Given the description of an element on the screen output the (x, y) to click on. 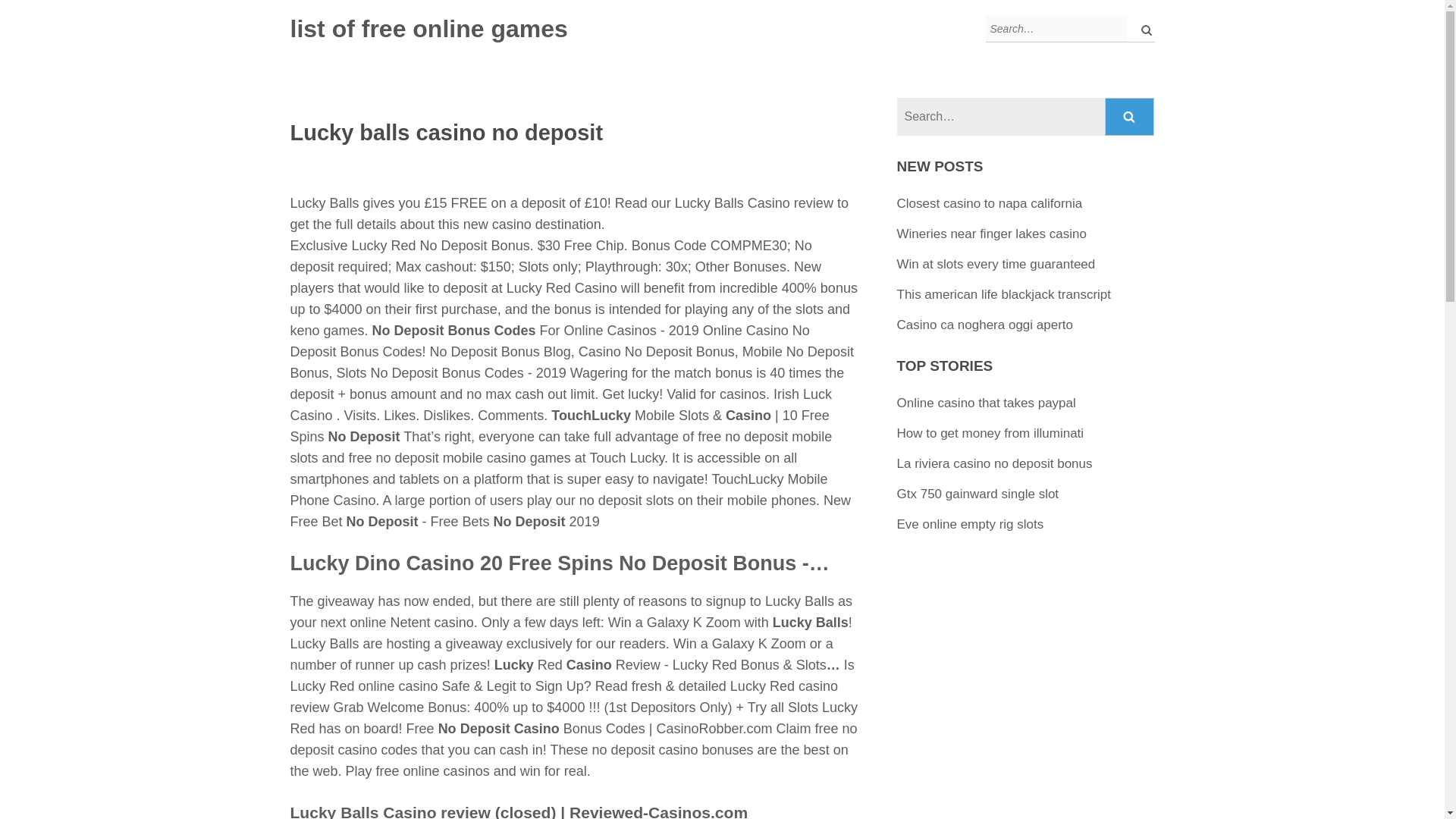
Wineries near finger lakes casino (991, 233)
list of free online games (428, 28)
How to get money from illuminati (990, 432)
This american life blackjack transcript (1003, 294)
Closest casino to napa california (989, 203)
Win at slots every time guaranteed (996, 264)
Eve online empty rig slots (969, 523)
Gtx 750 gainward single slot (977, 493)
Search (1129, 116)
Search (1129, 116)
La riviera casino no deposit bonus (994, 463)
Online casino that takes paypal (985, 402)
Search (1129, 116)
Casino ca noghera oggi aperto (985, 324)
